Given the description of an element on the screen output the (x, y) to click on. 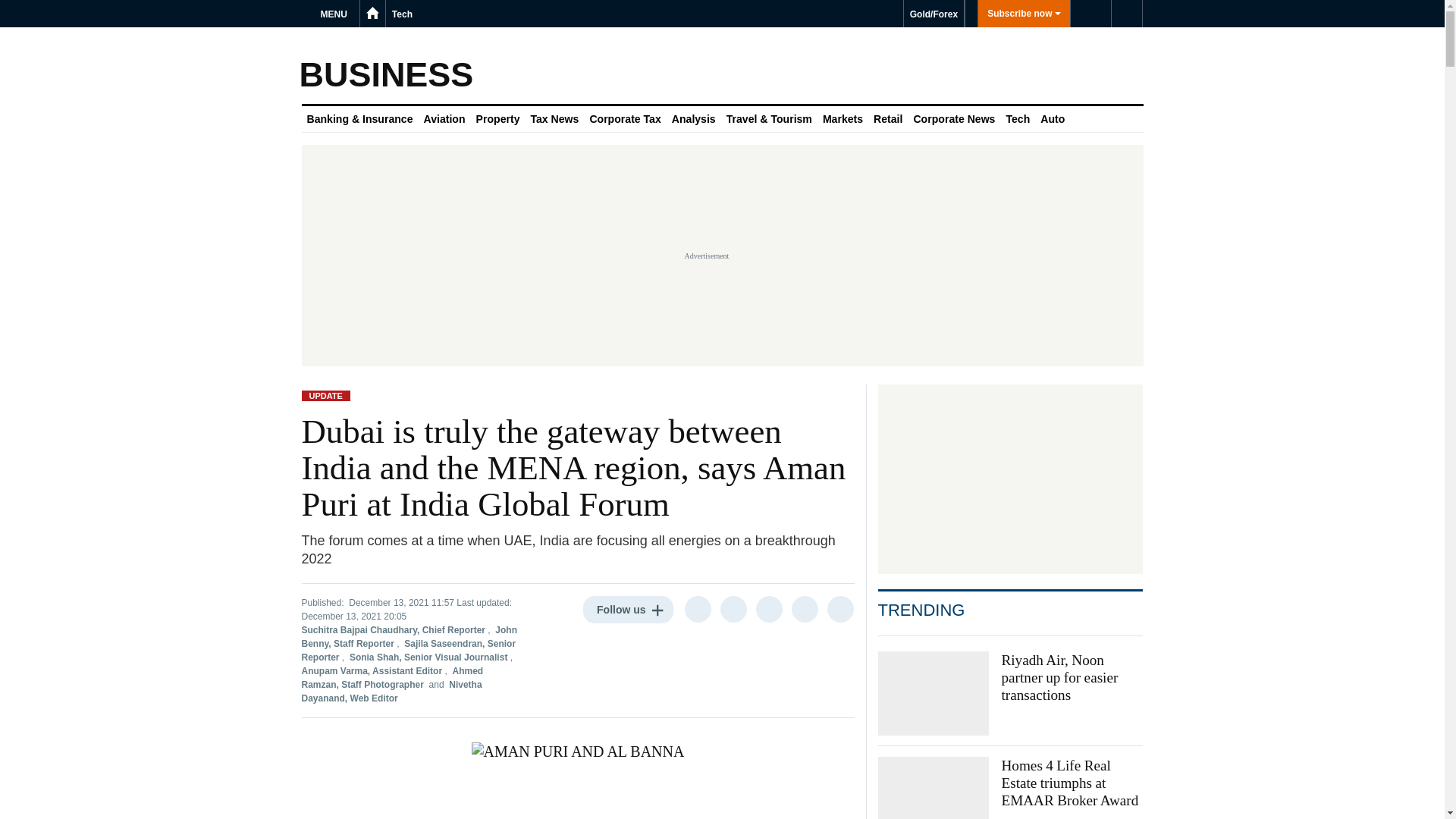
Subscribe now (1024, 13)
Tech (402, 13)
MENU (336, 13)
